Given the description of an element on the screen output the (x, y) to click on. 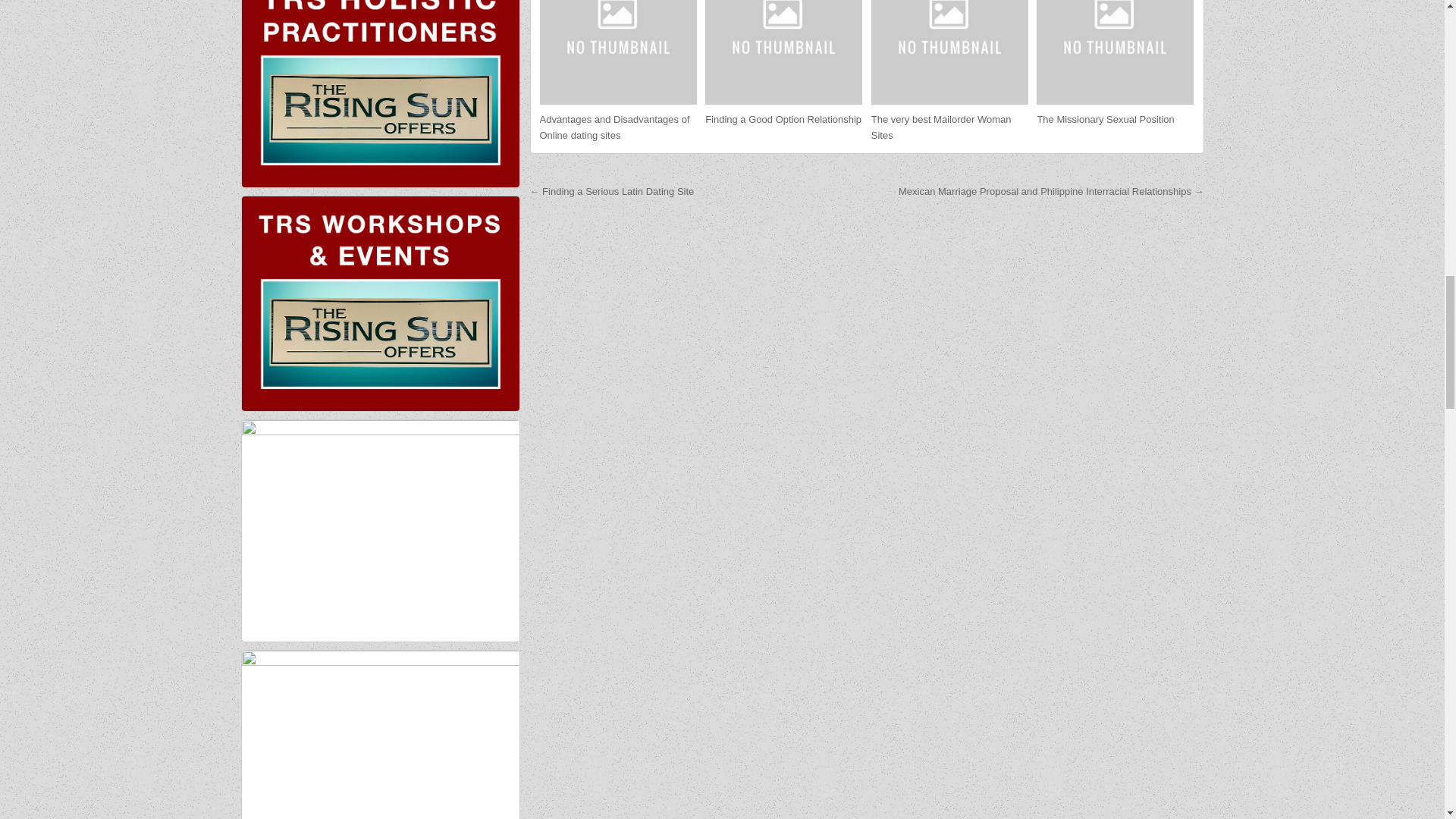
Permanent Link to The very best Mailorder Woman Sites (948, 52)
Permanent Link to Finding a Good Option Relationship (782, 52)
Permanent Link to The Missionary Sexual Position (1114, 52)
The Missionary Sexual Position (1104, 119)
The very best Mailorder Woman Sites (940, 126)
Permanent Link to Finding a Good Option Relationship (782, 119)
Permanent Link to The very best Mailorder Woman Sites (940, 126)
Advantages and Disadvantages of Online dating sites (615, 126)
Finding a Good Option Relationship (782, 119)
